Given the description of an element on the screen output the (x, y) to click on. 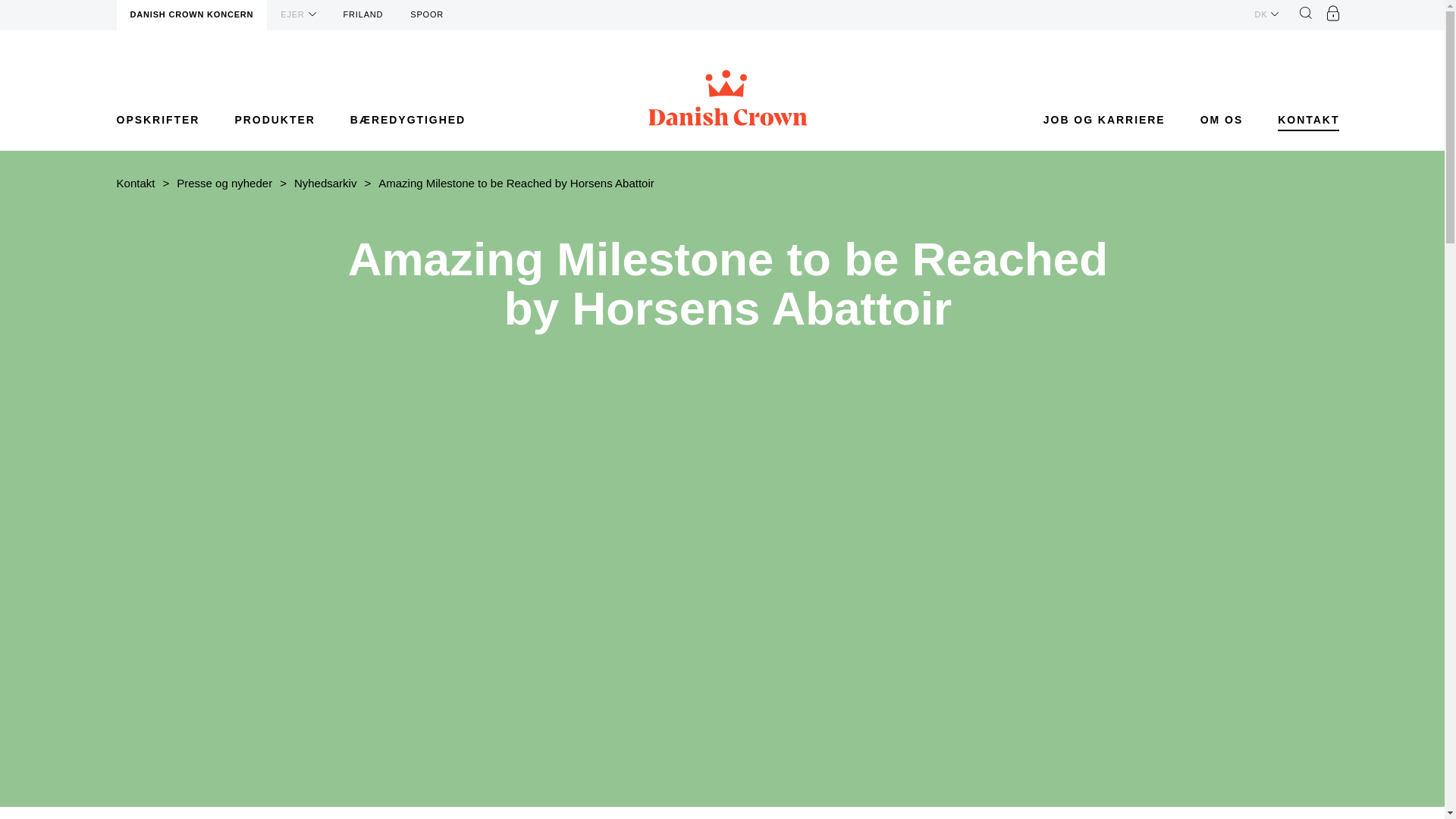
SPOOR (426, 15)
EJER (297, 14)
FRILAND (363, 15)
DK (1266, 14)
DANISH CROWN KONCERN (191, 15)
OPSKRIFTER (157, 120)
